Given the description of an element on the screen output the (x, y) to click on. 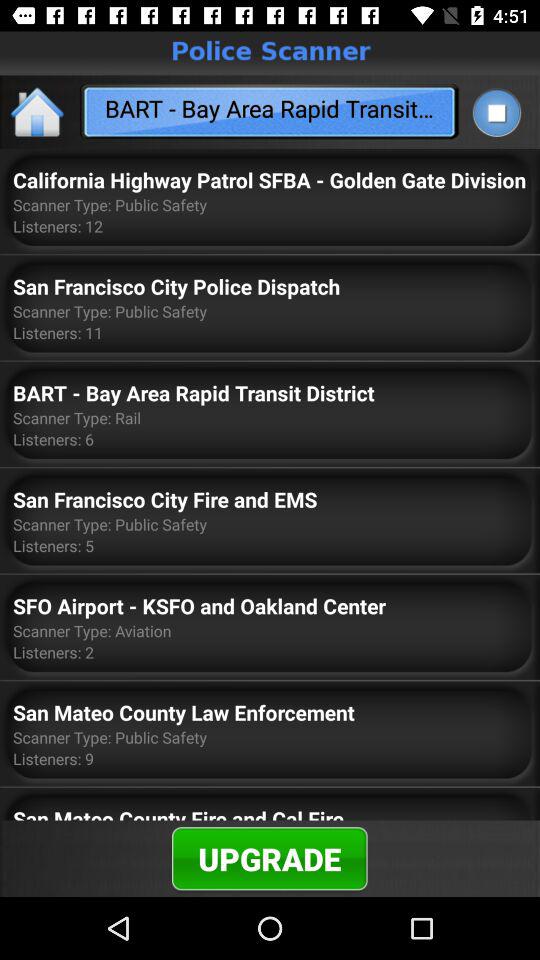
stop current frequency (496, 111)
